Given the description of an element on the screen output the (x, y) to click on. 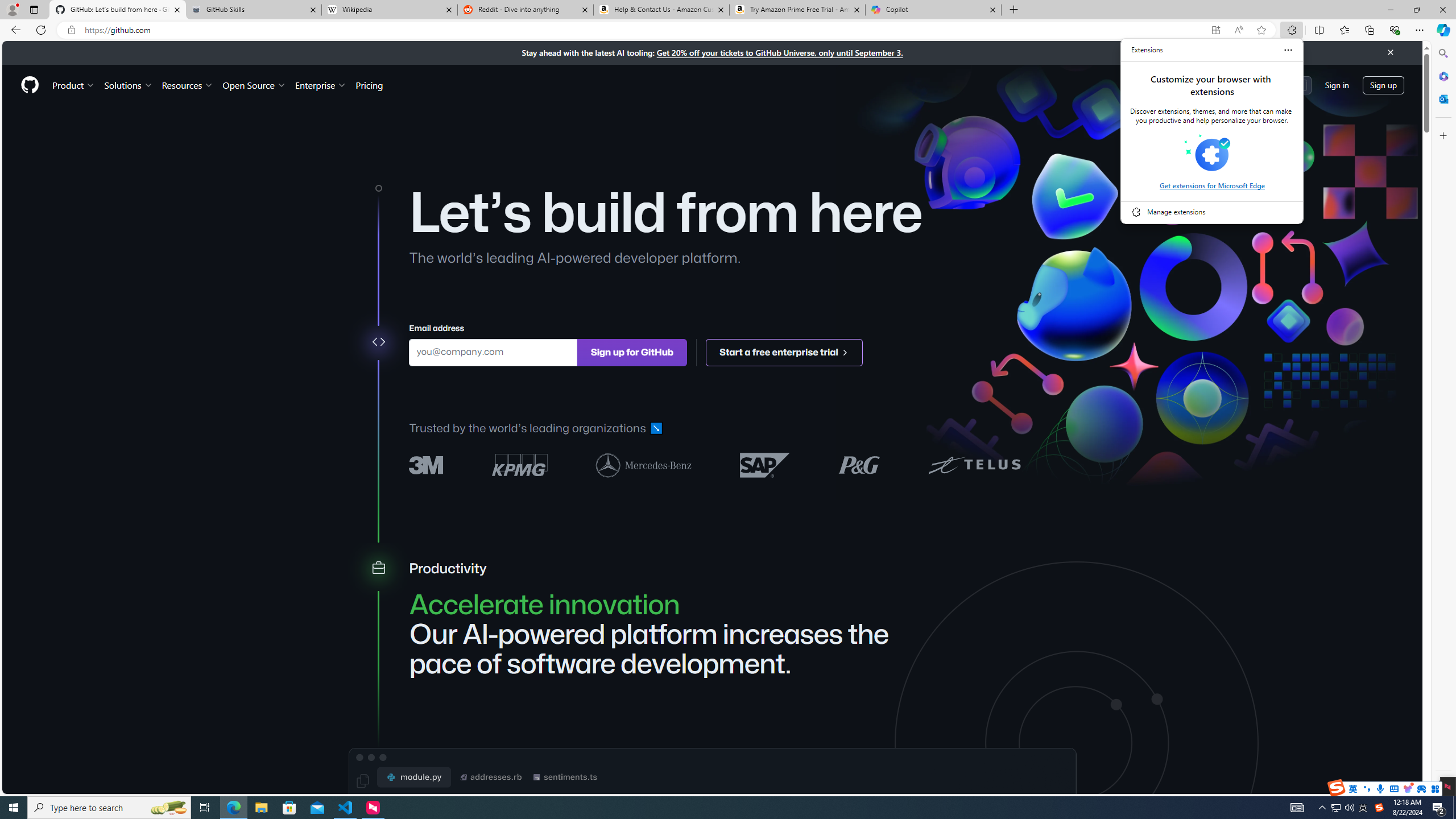
Running applications (707, 807)
Extensions (1146, 49)
Manage extensions (1212, 212)
